Given the description of an element on the screen output the (x, y) to click on. 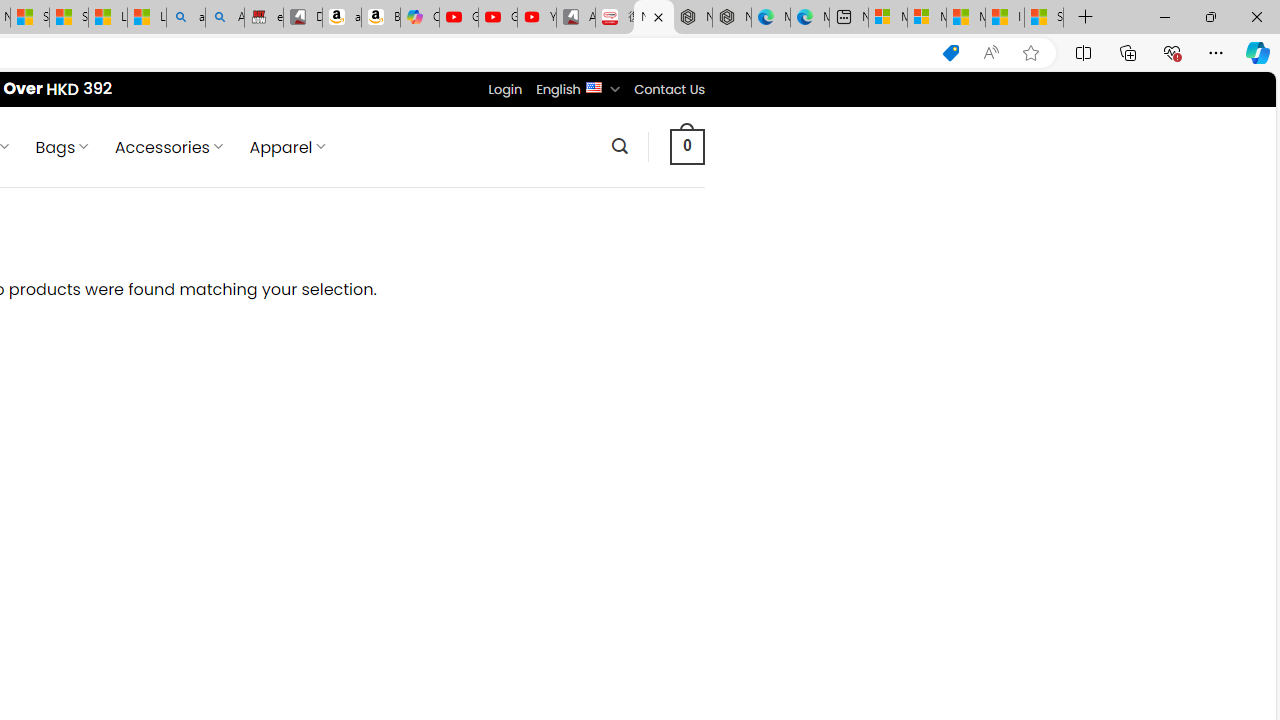
Login (505, 89)
Collections (1128, 52)
Copilot (419, 17)
Microsoft Start (966, 17)
This site has coupons! Shopping in Microsoft Edge (950, 53)
Amazon Echo Dot PNG - Search Images (225, 17)
amazon - Search (185, 17)
 0  (687, 146)
YouTube Kids - An App Created for Kids to Explore Content (536, 17)
amazon.in/dp/B0CX59H5W7/?tag=gsmcom05-21 (341, 17)
Close tab (658, 16)
